Given the description of an element on the screen output the (x, y) to click on. 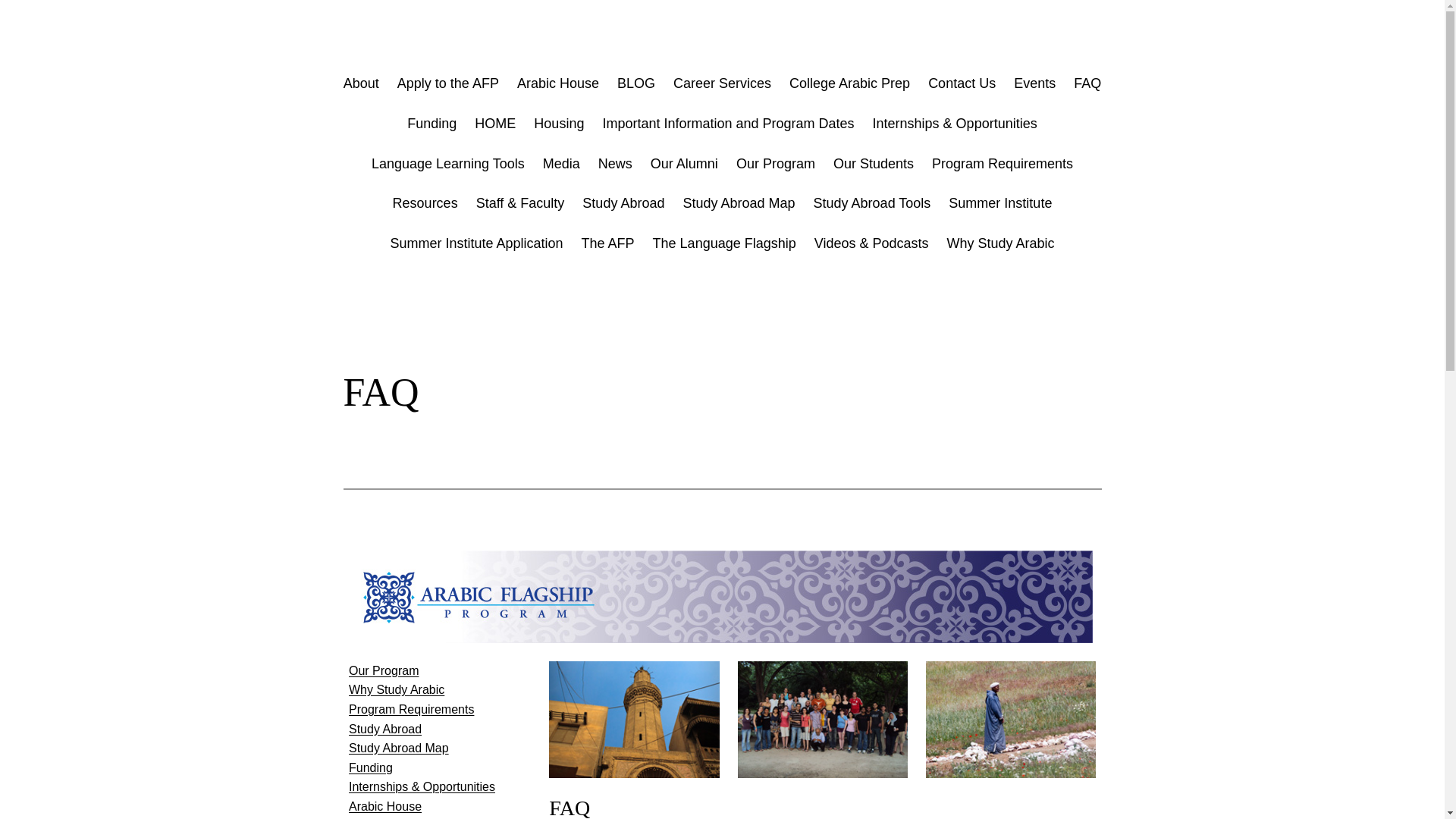
The AFP (607, 243)
Program Requirements (411, 708)
Events (1034, 83)
Important Information and Program Dates (727, 124)
Program Requirements (1002, 164)
Funding (432, 124)
Study Abroad (385, 728)
BLOG (636, 83)
Our Alumni (683, 164)
Arabic House (557, 83)
Language Learning Tools (447, 164)
Study Abroad (622, 203)
Study Abroad Map (738, 203)
Why Study Arabic (396, 689)
Apply to the AFP (448, 83)
